Given the description of an element on the screen output the (x, y) to click on. 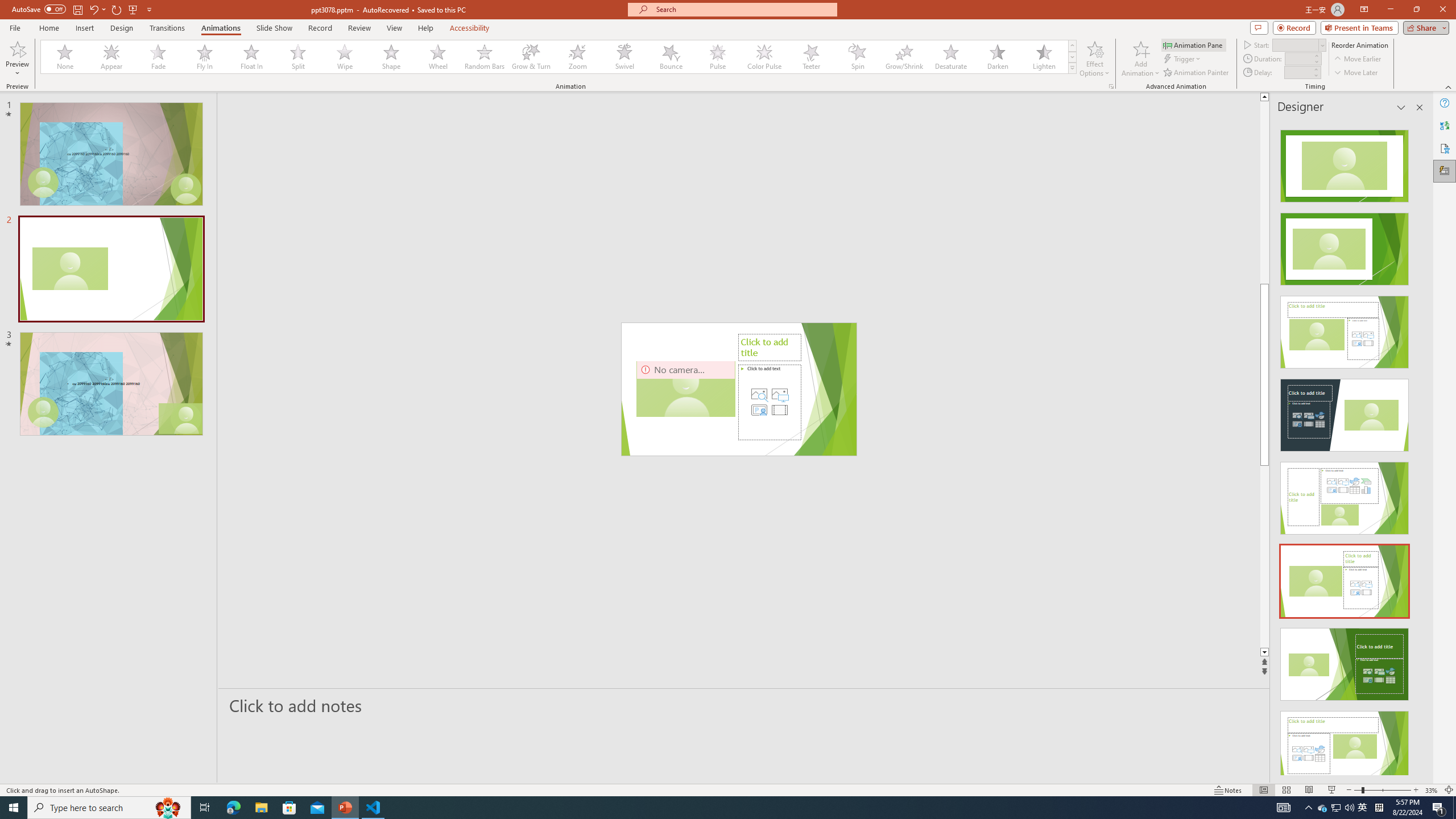
Teeter (810, 56)
Wipe (344, 56)
Design Idea (1344, 743)
